Given the description of an element on the screen output the (x, y) to click on. 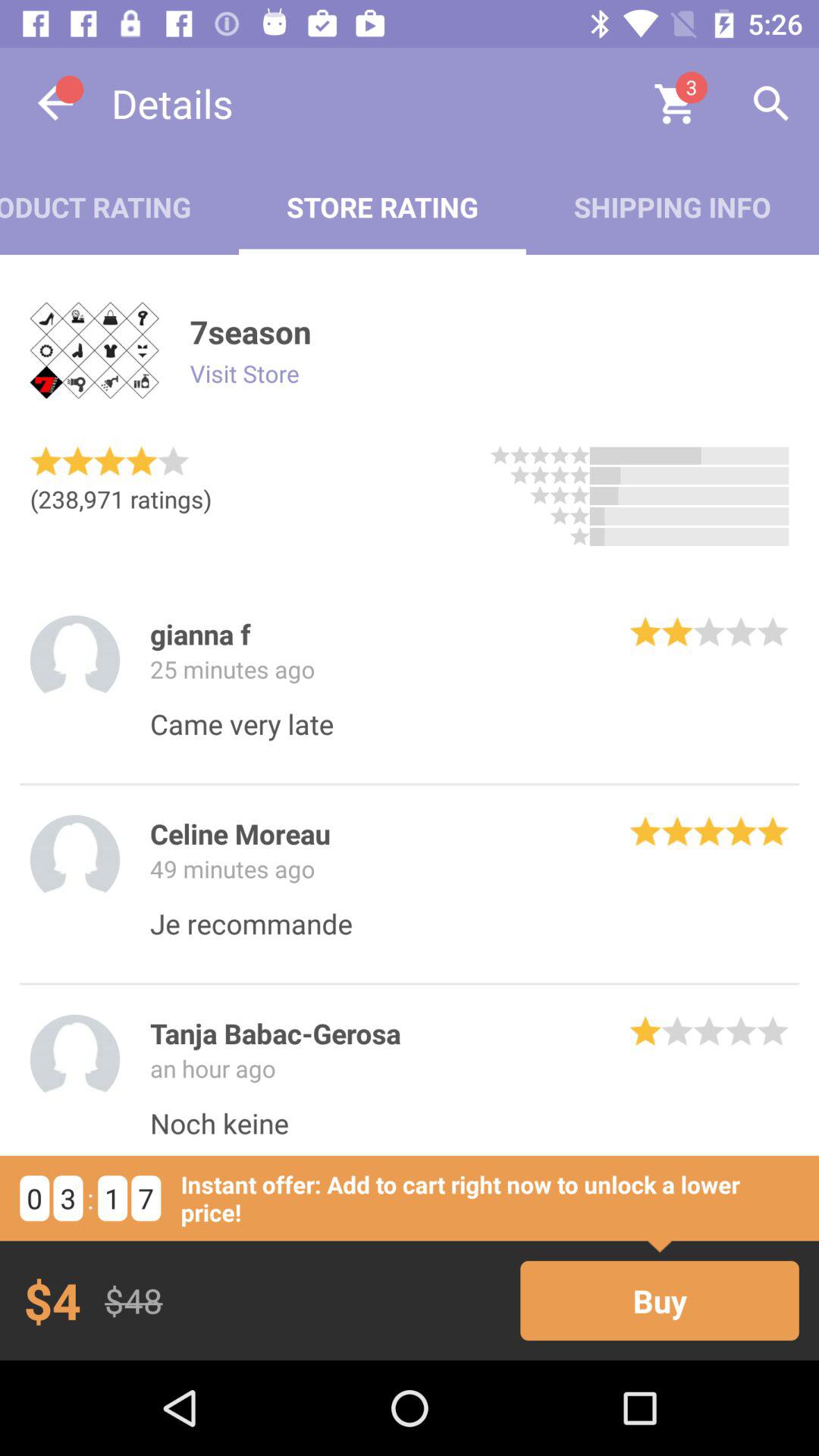
select the first star from the rating bar in the top row (500, 454)
